Given the description of an element on the screen output the (x, y) to click on. 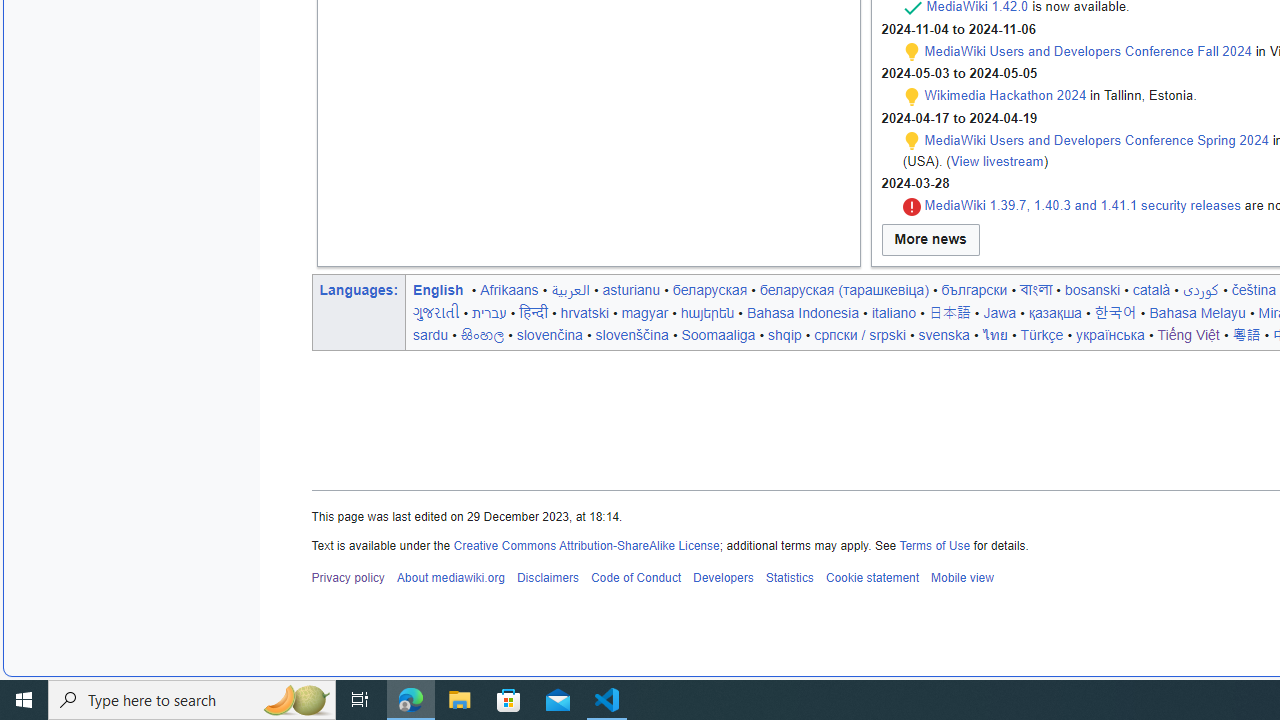
Developers (722, 578)
Soomaaliga (718, 334)
magyar (644, 312)
About mediawiki.org (450, 578)
Wikimedia Hackathon 2024 (1005, 95)
